Given the description of an element on the screen output the (x, y) to click on. 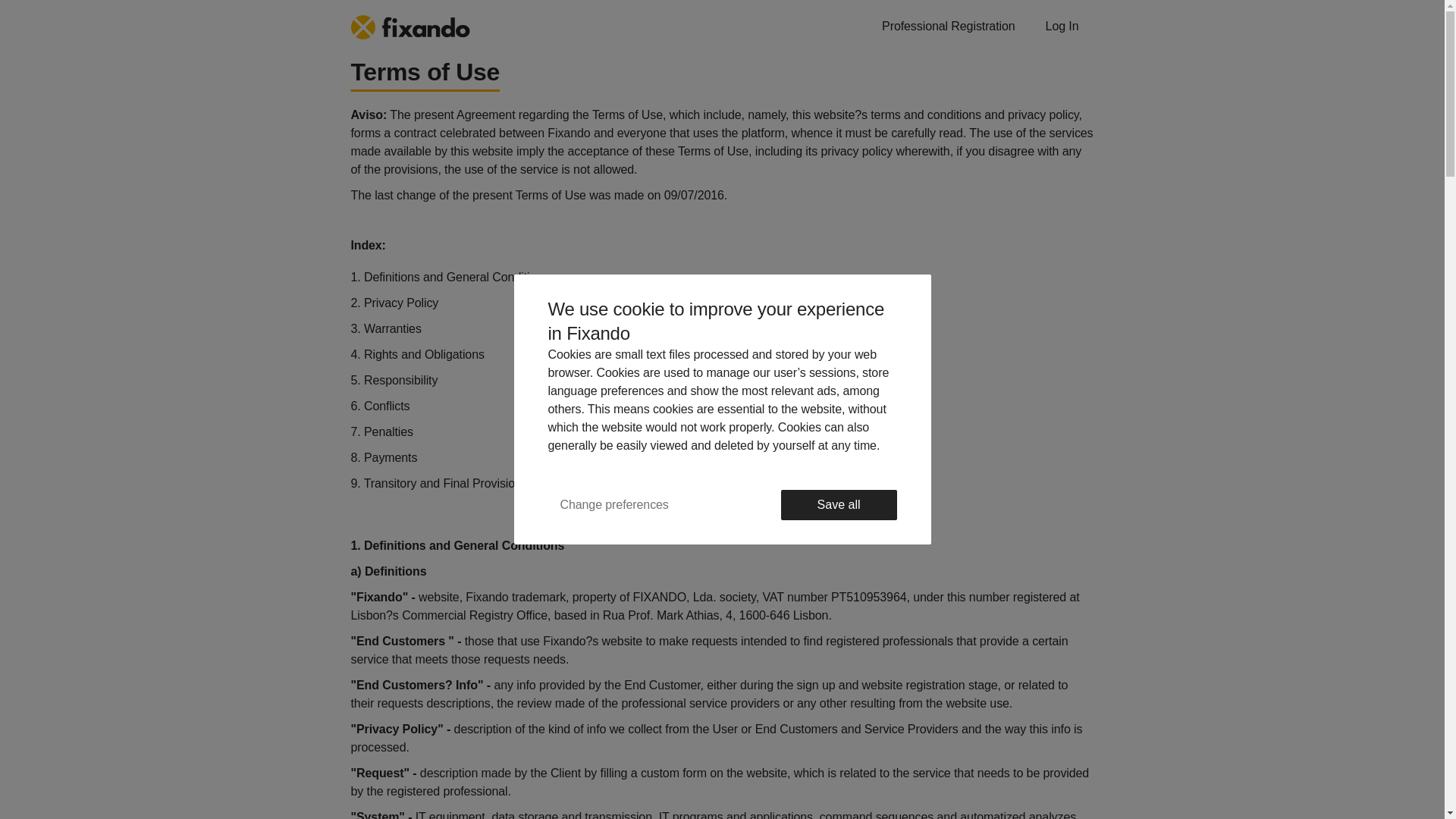
Professional Registration (947, 26)
Save all (838, 504)
Change preferences (613, 504)
Log In (1062, 26)
